Given the description of an element on the screen output the (x, y) to click on. 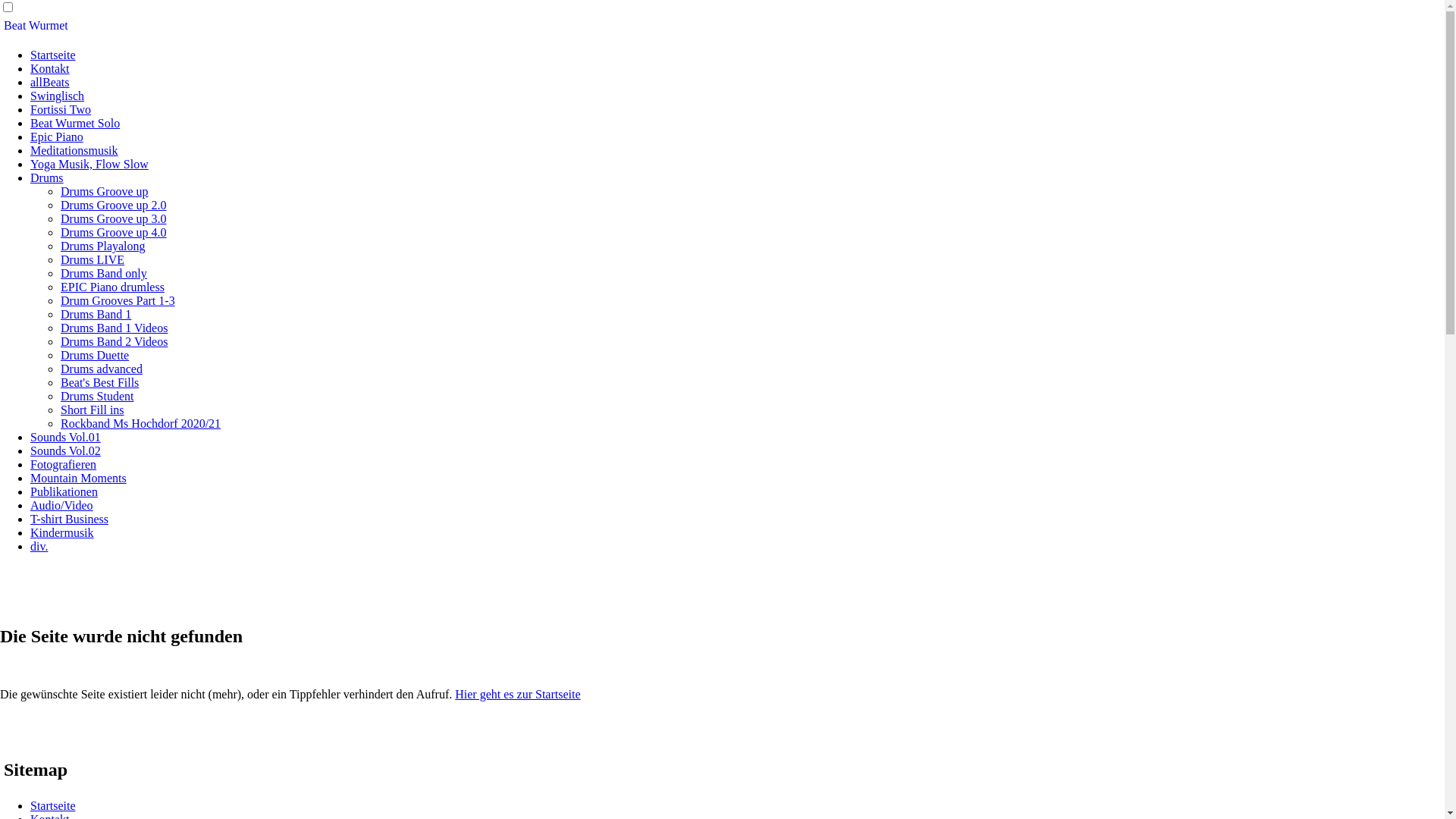
Beat Wurmet Element type: text (35, 24)
allBeats Element type: text (49, 81)
Drums Element type: text (46, 177)
Drum Grooves Part 1-3 Element type: text (117, 300)
Yoga Musik, Flow Slow Element type: text (89, 163)
Fortissi Two Element type: text (60, 109)
EPIC Piano drumless Element type: text (112, 286)
Drums LIVE Element type: text (92, 259)
Beat's Best Fills Element type: text (99, 382)
Beat Wurmet Solo Element type: text (74, 122)
Startseite Element type: text (52, 54)
Kindermusik Element type: text (62, 532)
Sounds Vol.01 Element type: text (65, 436)
Drums Student Element type: text (96, 395)
div. Element type: text (38, 545)
Fotografieren Element type: text (63, 464)
Rockband Ms Hochdorf 2020/21 Element type: text (140, 423)
Hier geht es zur Startseite Element type: text (517, 693)
Drums Band 1 Videos Element type: text (113, 327)
Startseite Element type: text (52, 805)
Drums Playalong Element type: text (102, 245)
Drums Groove up Element type: text (104, 191)
Drums Duette Element type: text (94, 354)
Drums Band 1 Element type: text (95, 313)
Drums advanced Element type: text (101, 368)
Swinglisch Element type: text (57, 95)
Publikationen Element type: text (63, 491)
Drums Groove up 3.0 Element type: text (113, 218)
Drums Band 2 Videos Element type: text (113, 341)
Epic Piano Element type: text (56, 136)
Drums Band only Element type: text (103, 272)
Mountain Moments Element type: text (78, 477)
Drums Groove up 4.0 Element type: text (113, 231)
Sounds Vol.02 Element type: text (65, 450)
Audio/Video Element type: text (61, 504)
Kontakt Element type: text (49, 68)
Meditationsmusik Element type: text (74, 150)
T-shirt Business Element type: text (69, 518)
Drums Groove up 2.0 Element type: text (113, 204)
Short Fill ins Element type: text (92, 409)
